Given the description of an element on the screen output the (x, y) to click on. 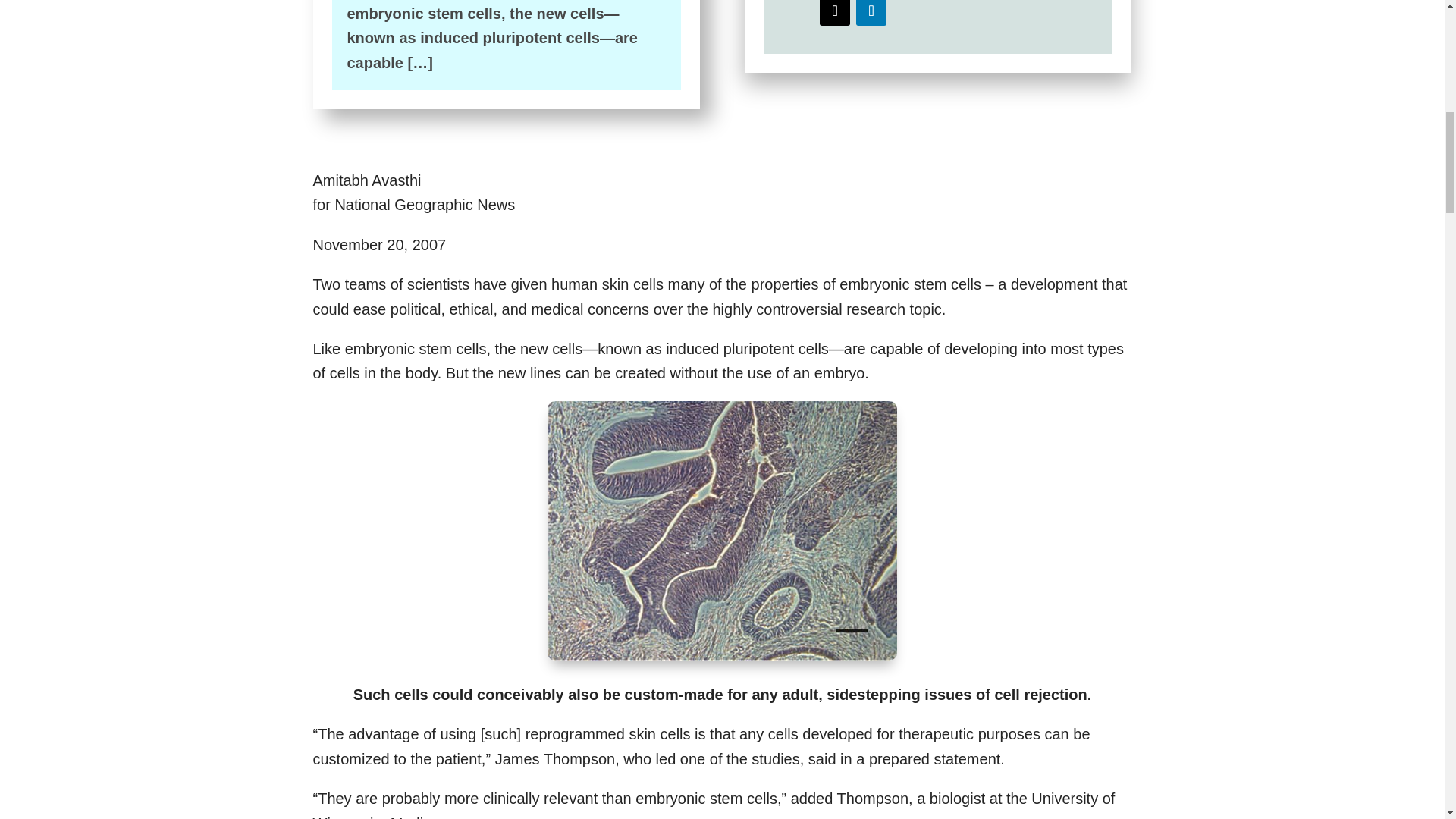
Follow on X (834, 12)
Follow on LinkedIn (871, 12)
